Given the description of an element on the screen output the (x, y) to click on. 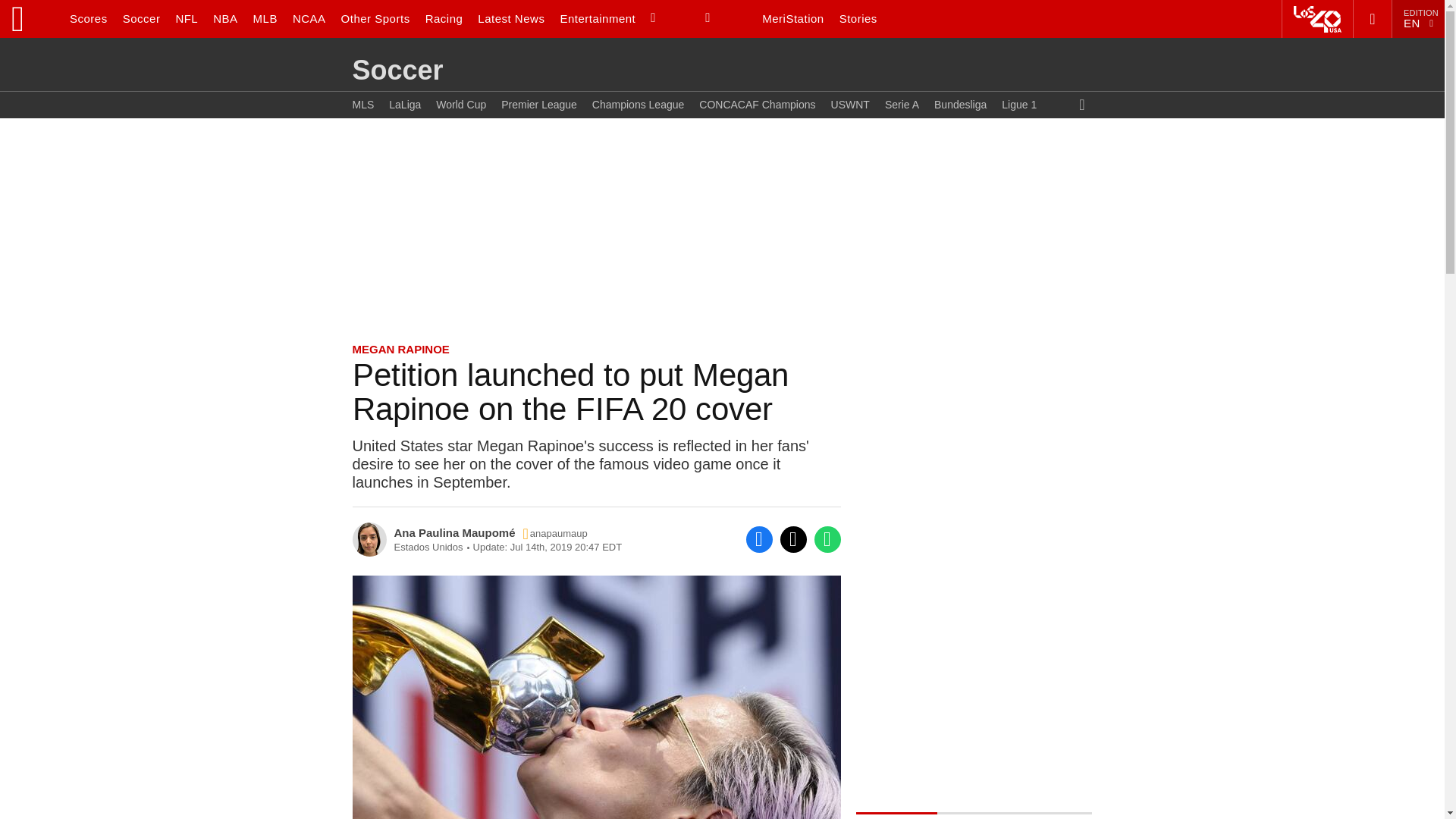
NBA (224, 18)
MLB (265, 18)
MeriStation (792, 18)
Go to twitter (792, 539)
Scores (88, 18)
Entertainment (597, 18)
AS USA - Online sports newspaper (28, 18)
Latest News (510, 18)
Go to facebook (759, 539)
Go to twitter (555, 532)
